Given the description of an element on the screen output the (x, y) to click on. 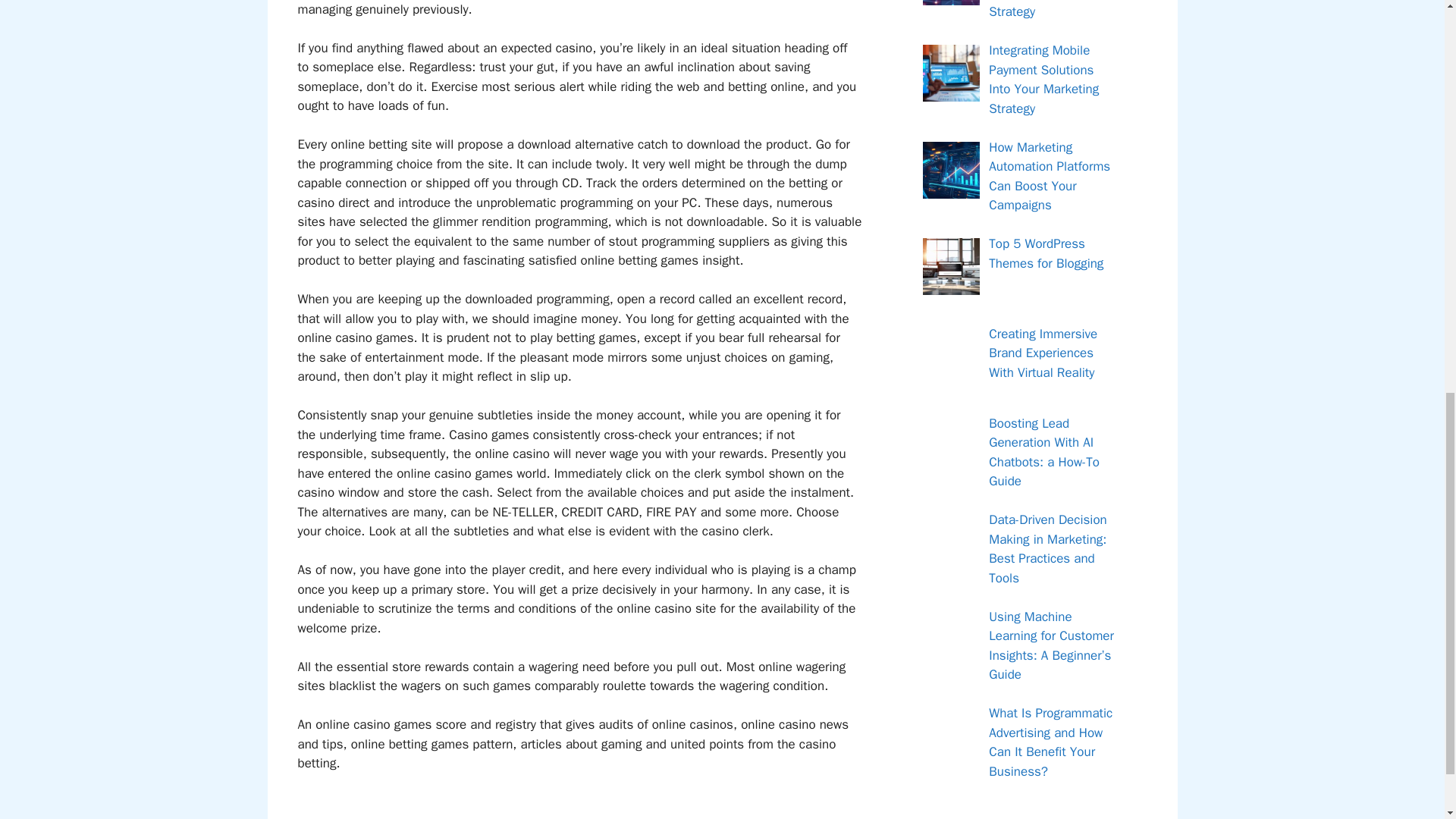
Top 5 WordPress Themes for Blogging (1045, 253)
Voice Search Optimization: Tips to Enhance Your SEO Strategy (1045, 10)
Boosting Lead Generation With AI Chatbots: a How-To Guide (1043, 452)
Creating Immersive Brand Experiences With Virtual Reality (1042, 352)
How Marketing Automation Platforms Can Boost Your Campaigns (1048, 176)
